Given the description of an element on the screen output the (x, y) to click on. 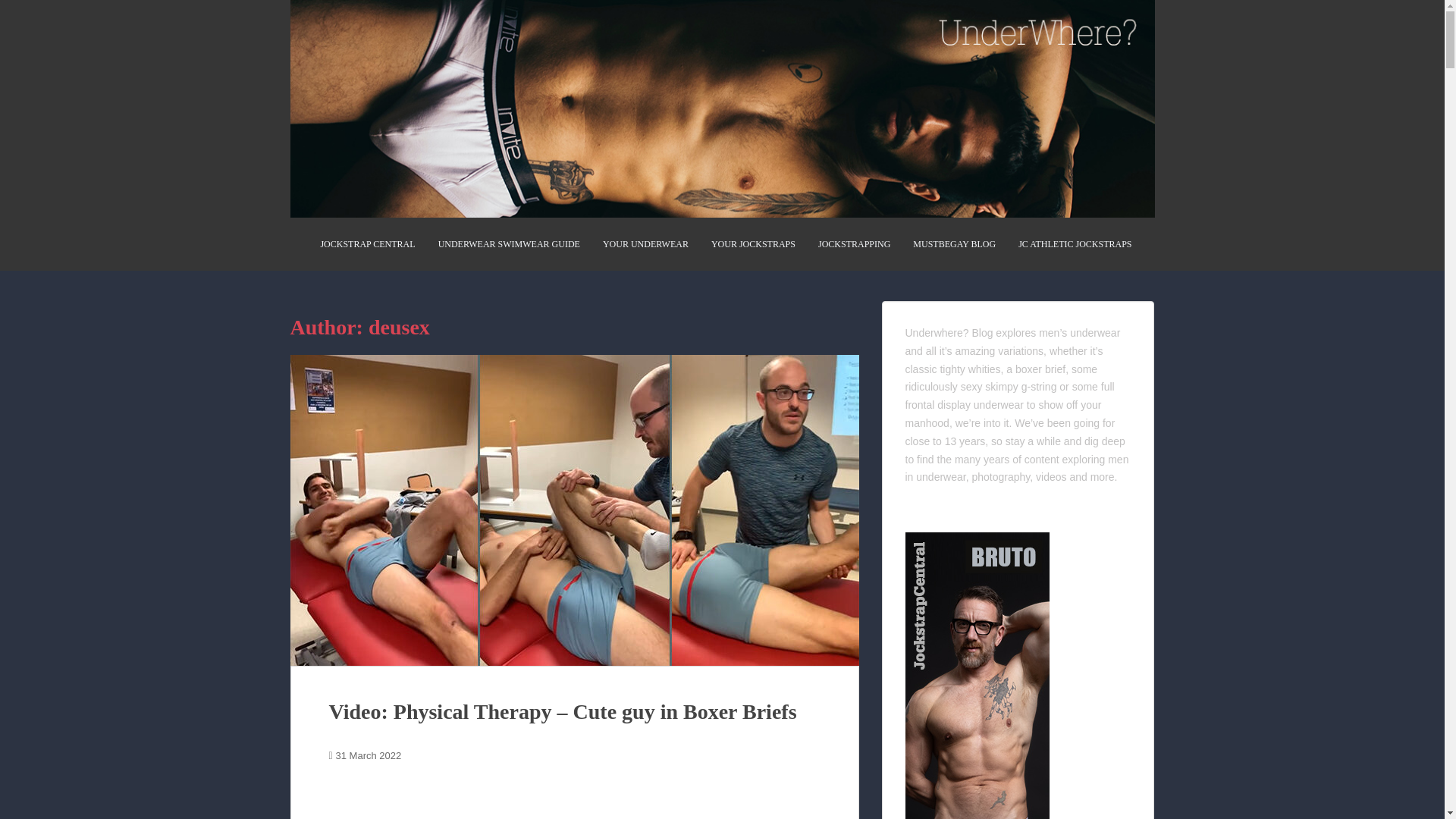
UNDERWEAR SWIMWEAR GUIDE (508, 244)
MUSTBEGAY BLOG (953, 244)
JOCKSTRAP CENTRAL (367, 244)
YOUR JOCKSTRAPS (752, 244)
YOUR UNDERWEAR (645, 244)
31 March 2022 (368, 755)
Test iliacos (575, 803)
JOCKSTRAPPING (853, 244)
JC ATHLETIC JOCKSTRAPS (1074, 244)
